Given the description of an element on the screen output the (x, y) to click on. 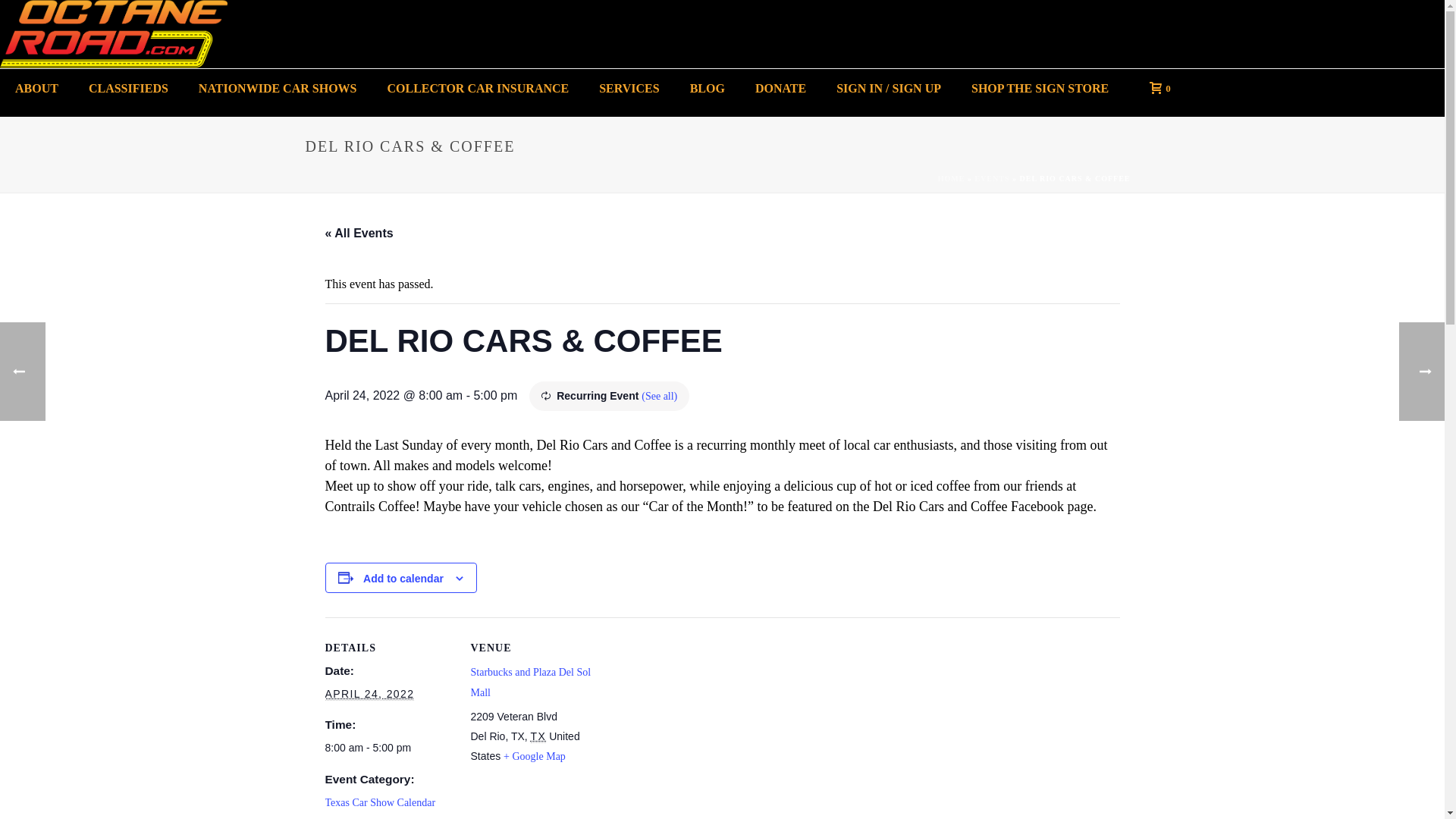
NATIONWIDE CAR SHOWS (277, 88)
ABOUT (37, 88)
SHOP THE SIGN STORE (1040, 88)
DONATE (780, 88)
Octane Road (113, 33)
Texas (539, 736)
Collector Car Insurance Classic Car Shows (113, 33)
SERVICES (628, 88)
Click to view a Google Map (534, 756)
SHOP THE SIGN STORE (1040, 88)
